Given the description of an element on the screen output the (x, y) to click on. 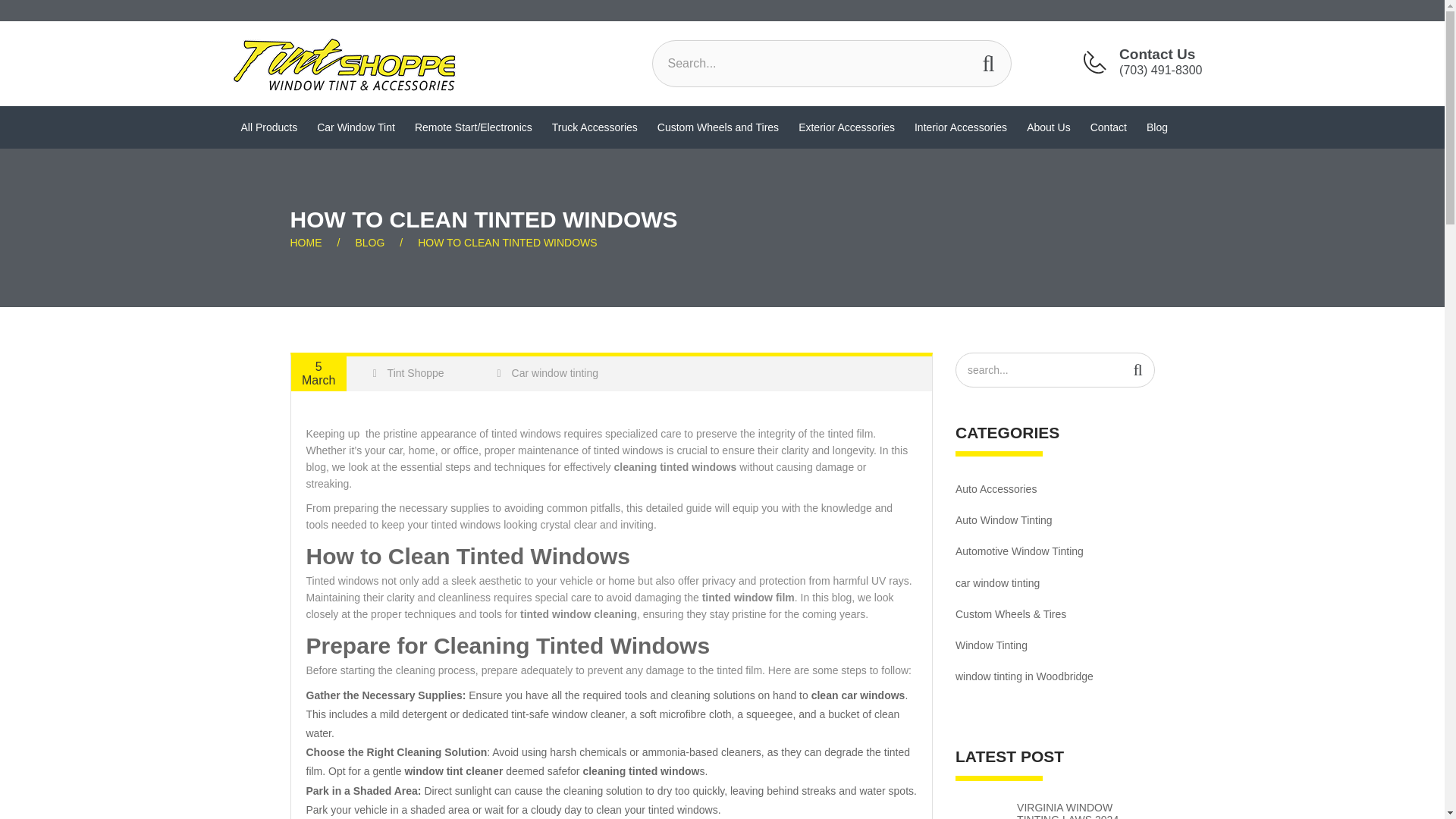
Truck Accessories (594, 127)
Automotive Window Tinting (1054, 551)
car window tinting (1054, 583)
window tinting in Woodbridge (1054, 676)
Custom Wheels and Tires (718, 127)
Window Tinting (1054, 644)
Car window tinting (547, 372)
VIRGINIA WINDOW TINTING LAWS 2024 (1085, 810)
HOW TO CLEAN TINTED WINDOWS (514, 242)
Interior Accessories (960, 127)
